Given the description of an element on the screen output the (x, y) to click on. 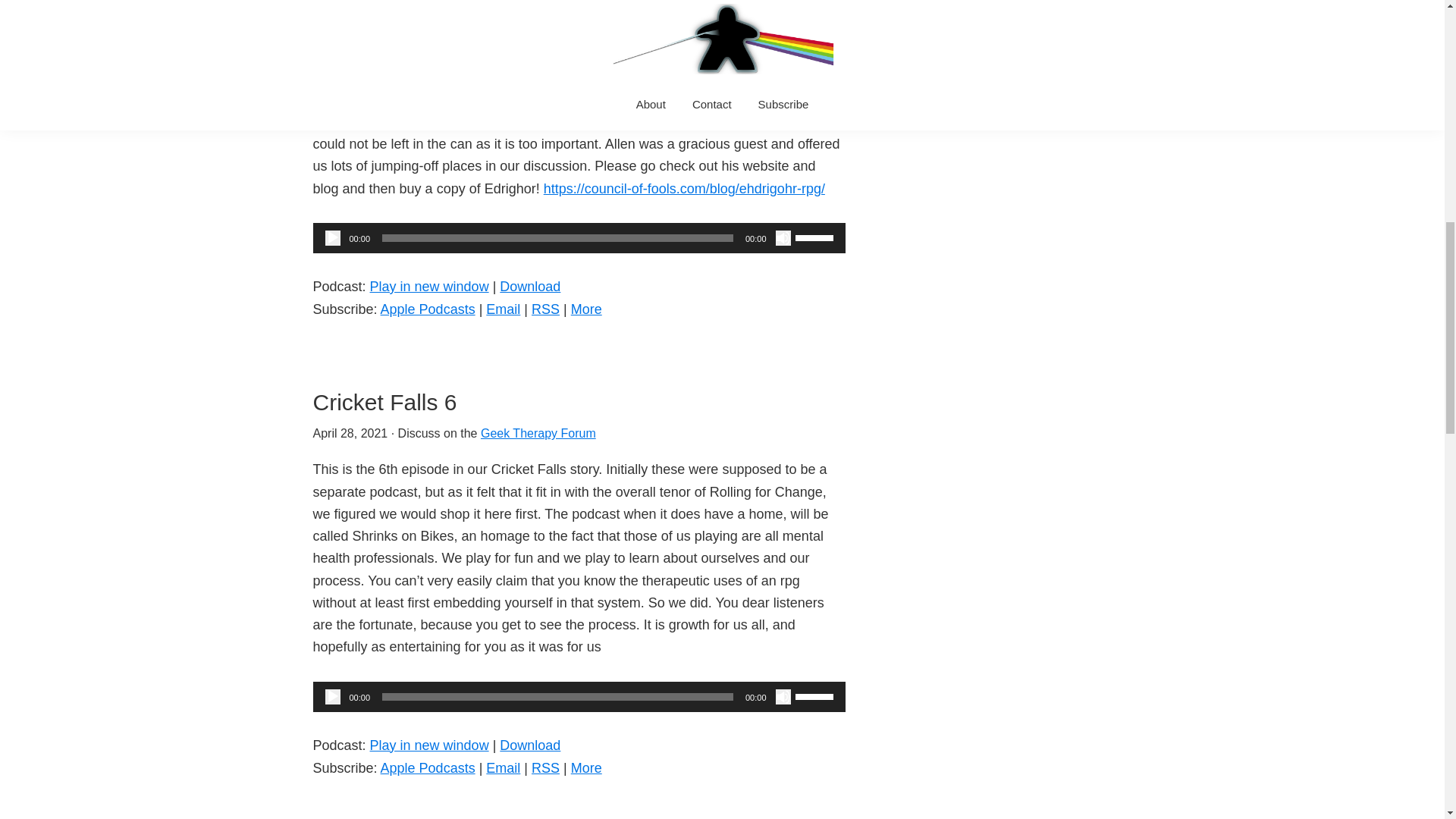
Play in new window (429, 286)
Play (331, 237)
Edrighor with Allen Turner (443, 32)
Geek Therapy Forum (536, 63)
Mute (782, 237)
